Given the description of an element on the screen output the (x, y) to click on. 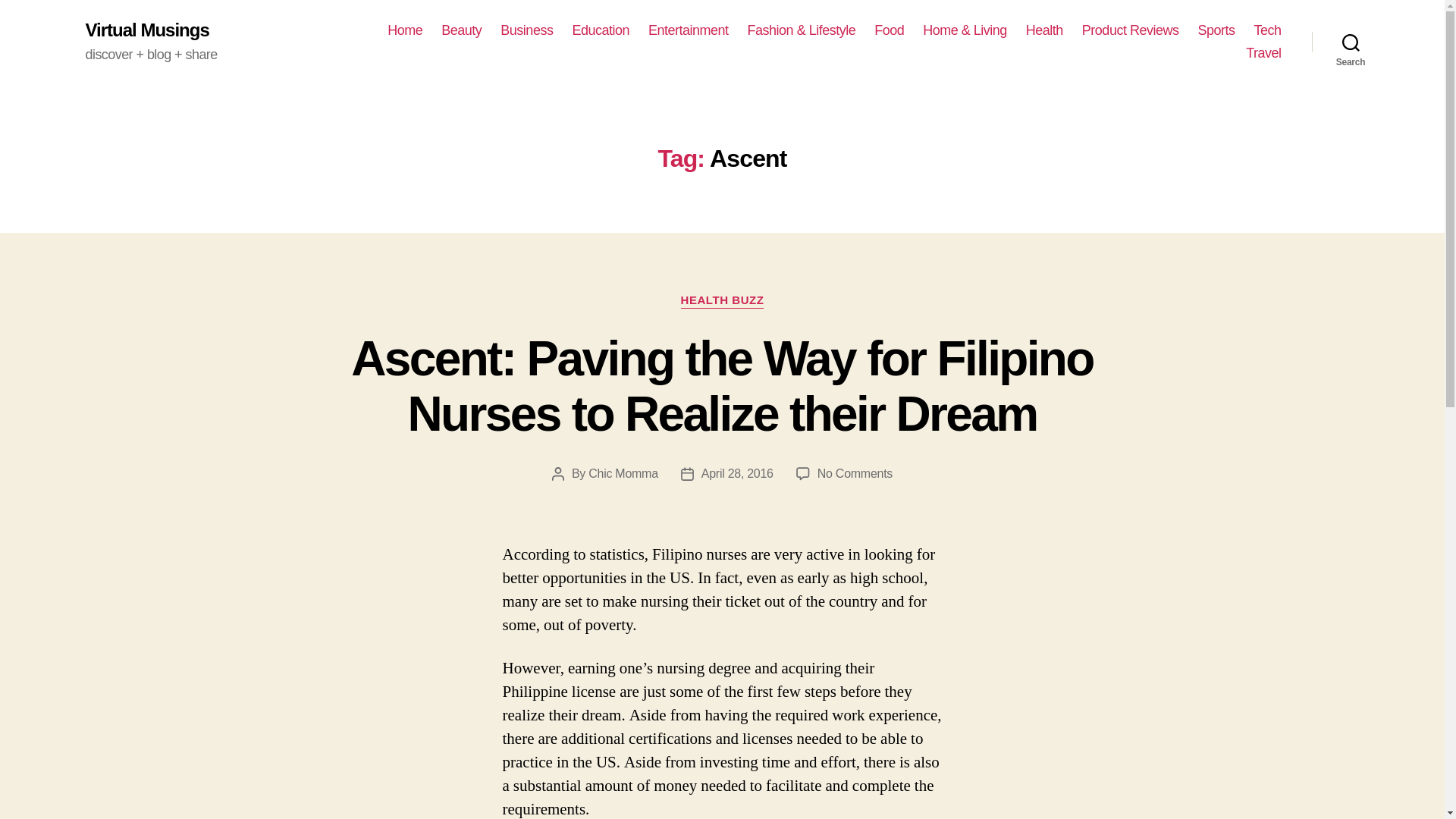
Home (404, 30)
Travel (1263, 53)
Product Reviews (1130, 30)
Entertainment (688, 30)
Beauty (461, 30)
Business (526, 30)
Virtual Musings (146, 30)
Food (889, 30)
Health (1044, 30)
